Given the description of an element on the screen output the (x, y) to click on. 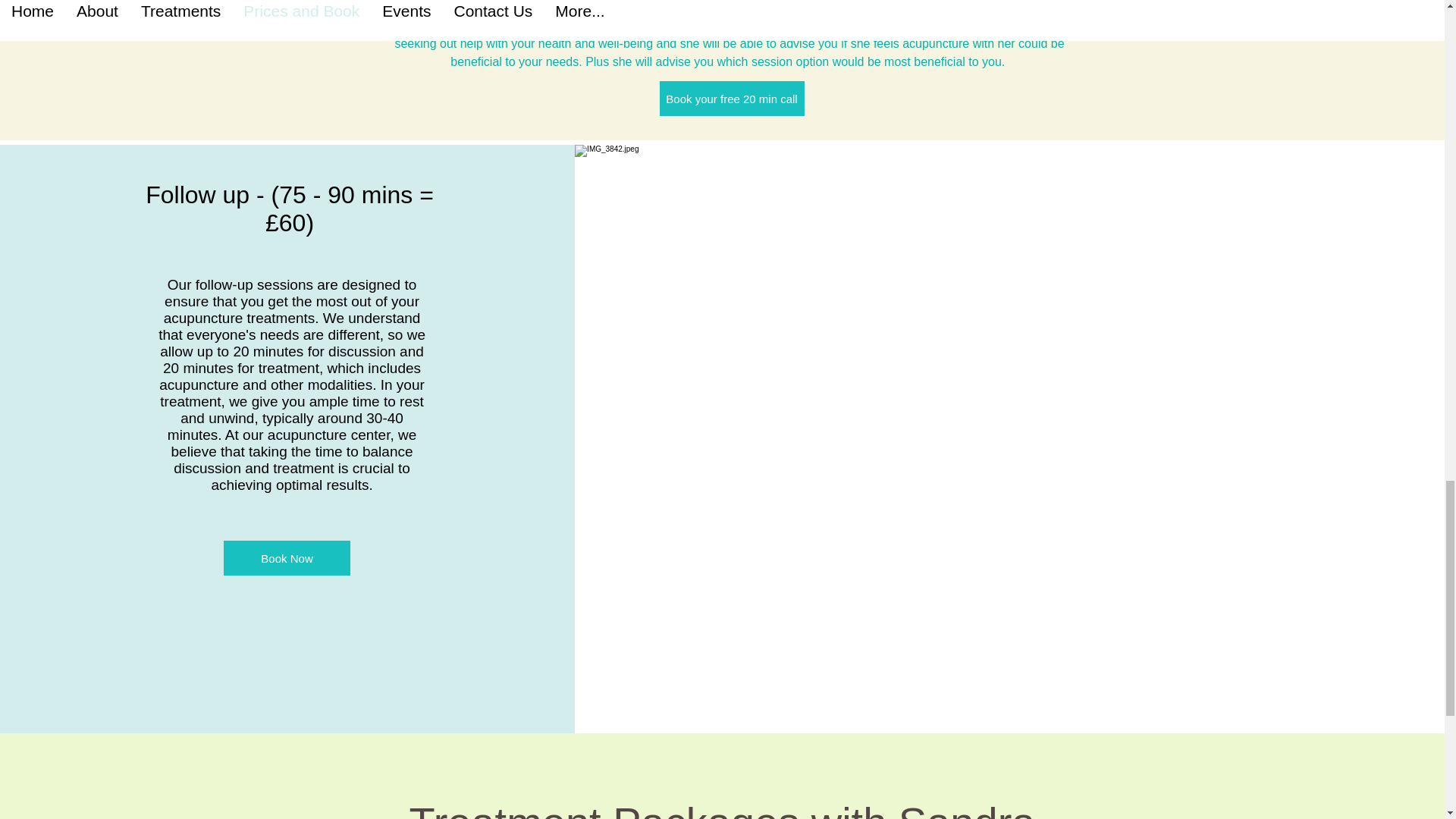
Book Now (287, 557)
Book your free 20 min call (732, 98)
